Given the description of an element on the screen output the (x, y) to click on. 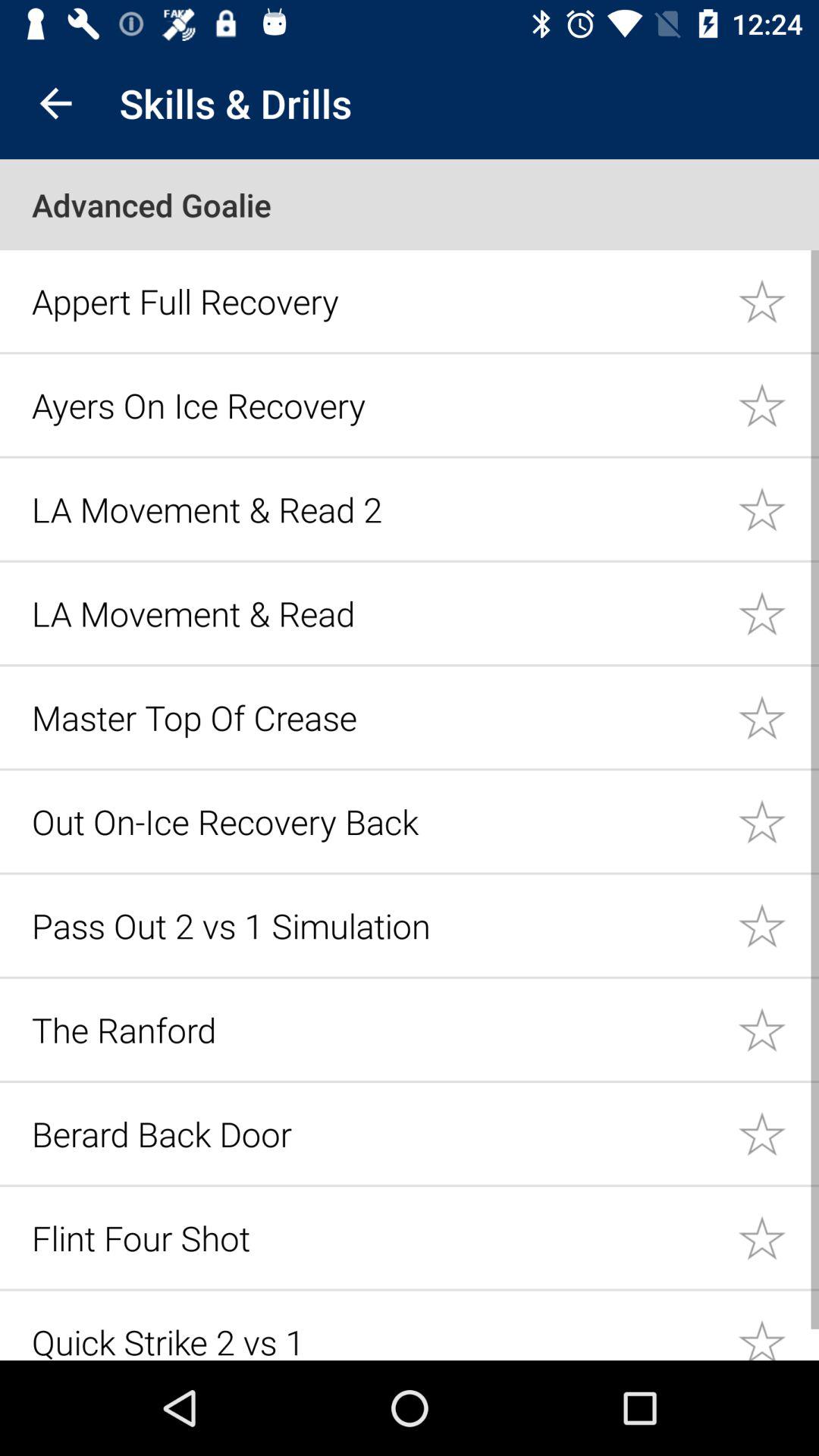
turn on the icon above the advanced goalie item (55, 103)
